Given the description of an element on the screen output the (x, y) to click on. 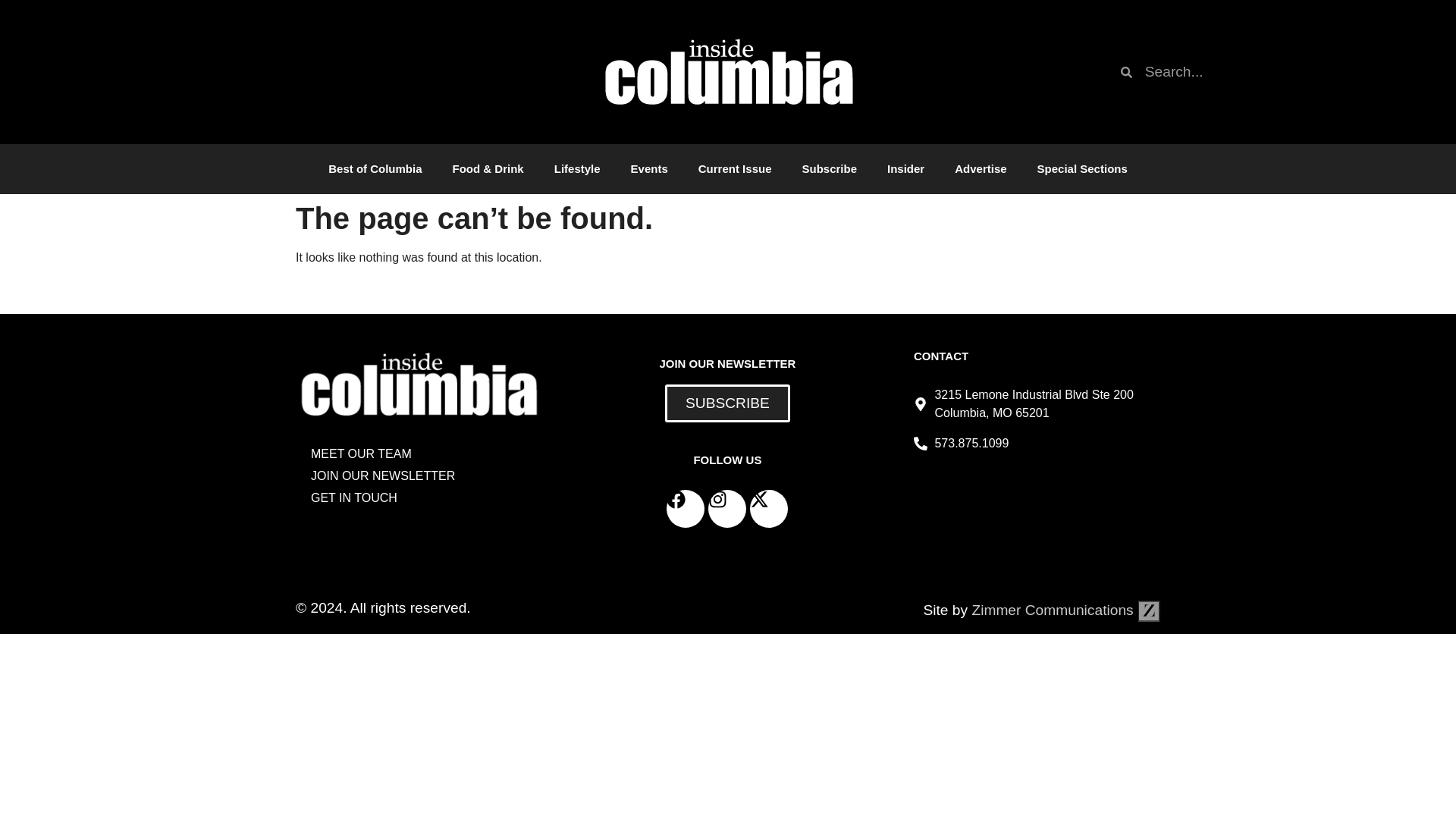
Current Issue (734, 168)
Subscribe (829, 168)
Best of Columbia (374, 168)
Insider (905, 168)
Events (648, 168)
Lifestyle (576, 168)
